Given the description of an element on the screen output the (x, y) to click on. 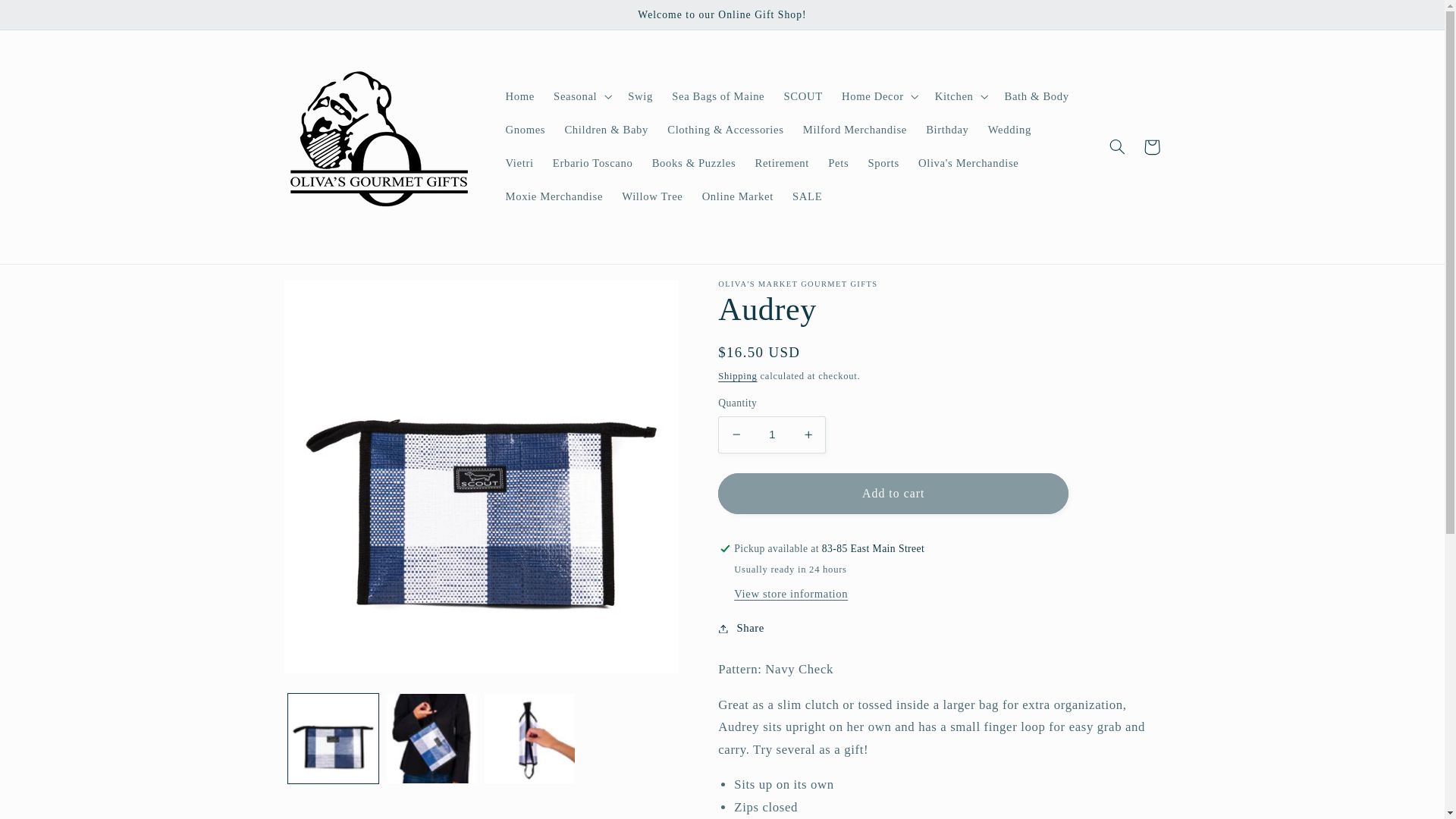
1 (771, 434)
Skip to content (49, 19)
